Given the description of an element on the screen output the (x, y) to click on. 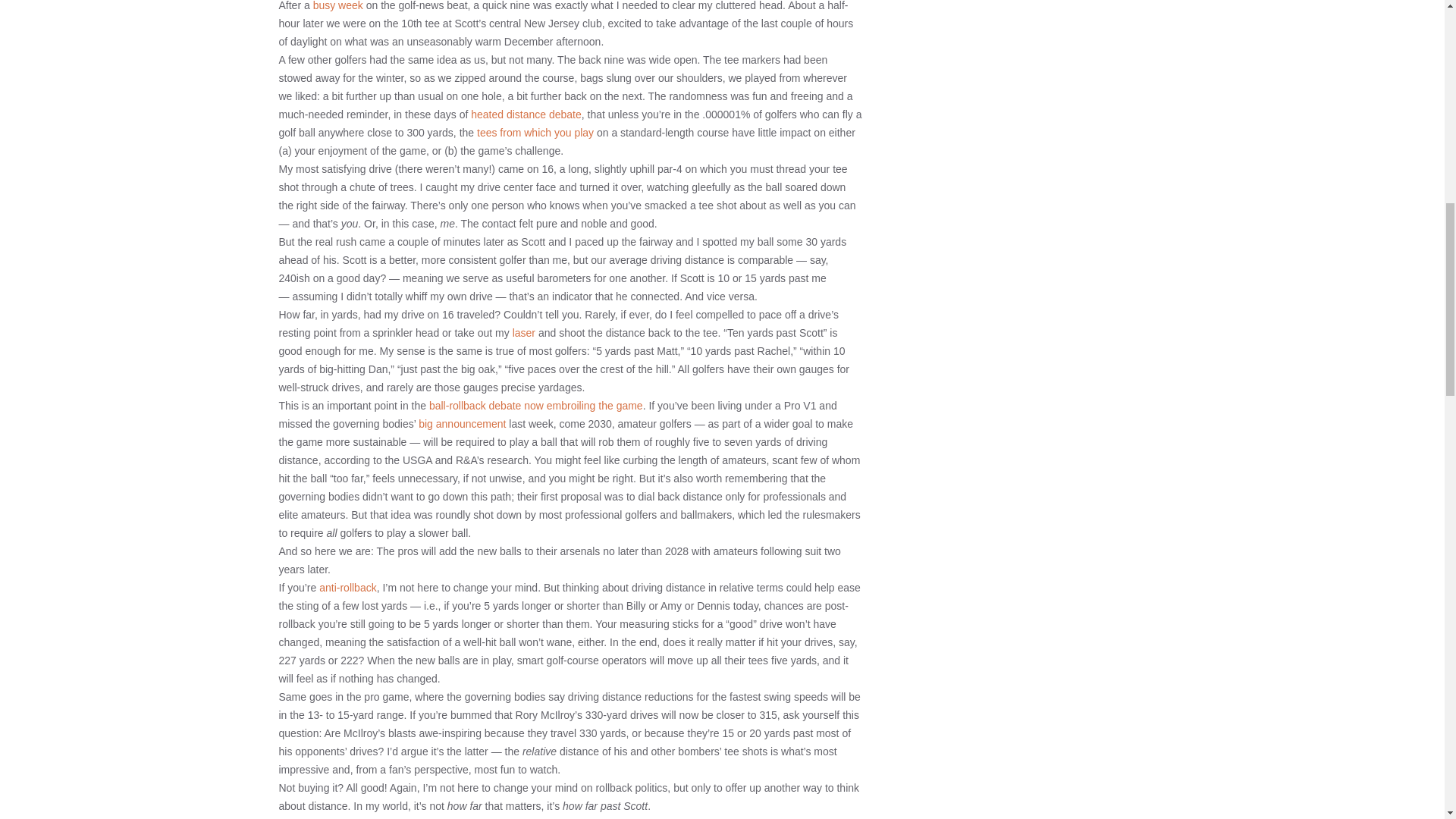
busy week (337, 5)
ball-rollback debate now embroiling the game (536, 405)
laser (523, 332)
big announcement (462, 423)
heated distance debate (525, 114)
anti-rollback (346, 587)
tees from which you play (535, 132)
